Given the description of an element on the screen output the (x, y) to click on. 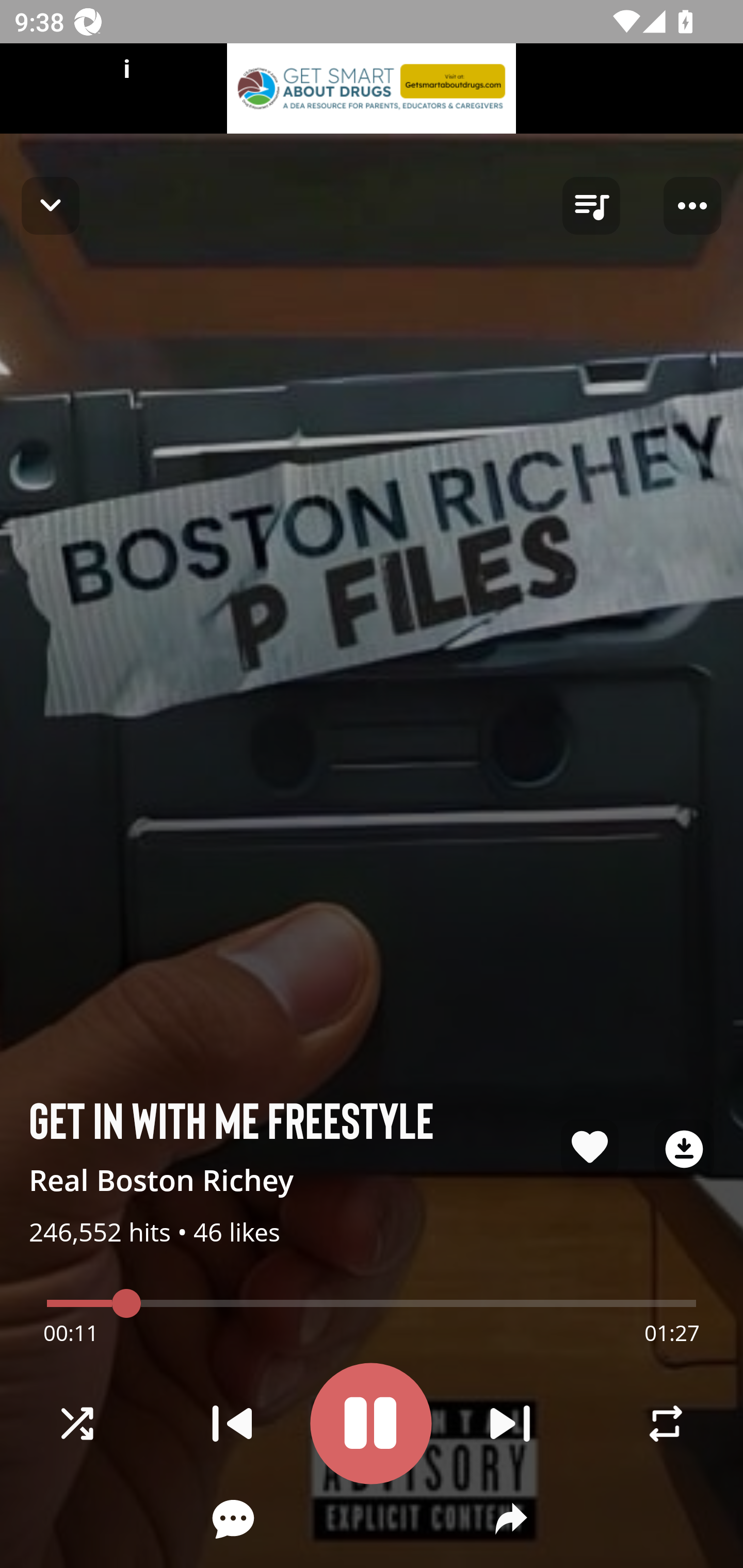
Navigate up (50, 205)
queue (590, 206)
Player options (692, 206)
